Given the description of an element on the screen output the (x, y) to click on. 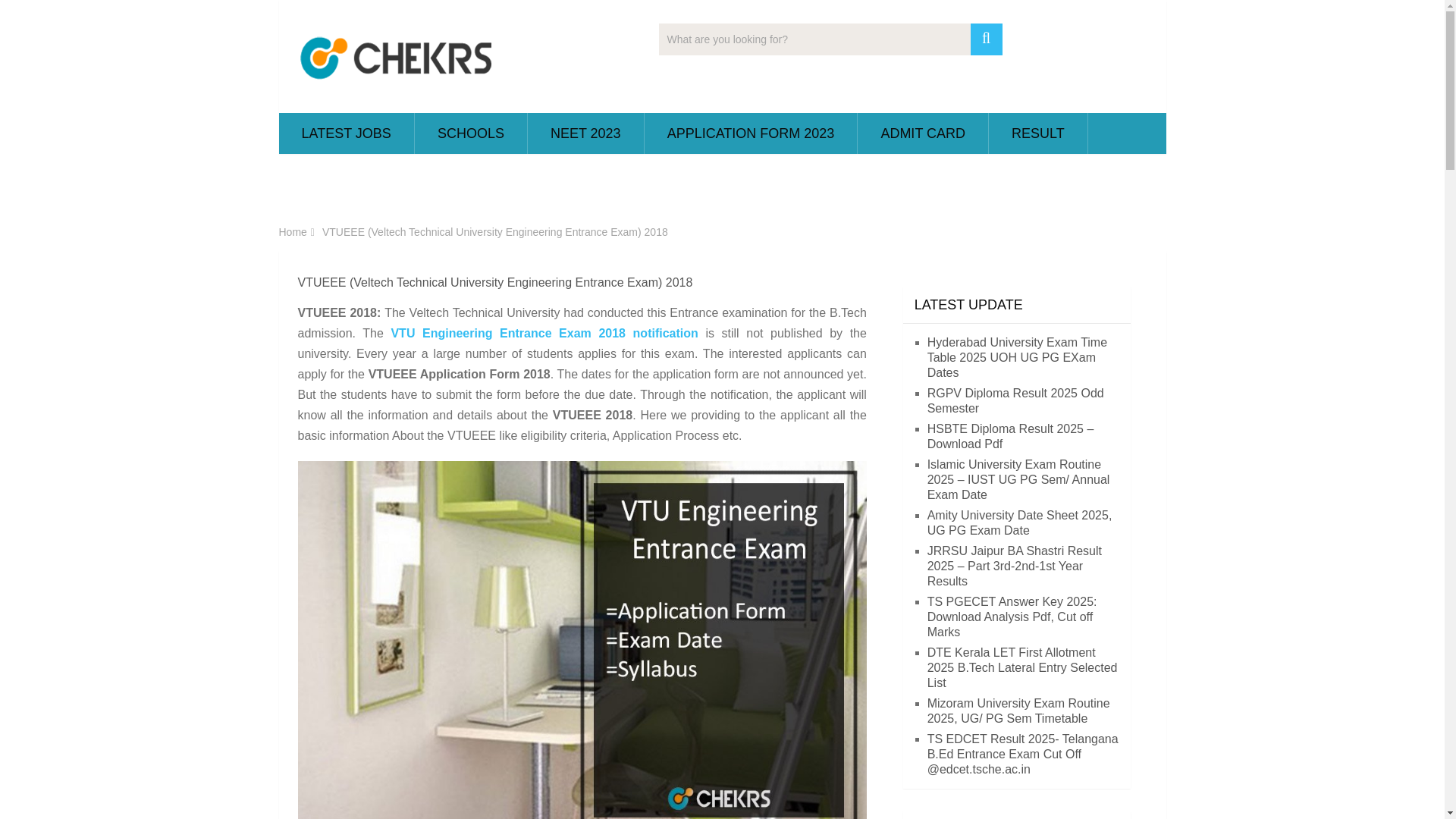
RGPV Diploma Result 2025 Odd Semester (1015, 400)
APPLICATION FORM 2023 (751, 133)
VTU Engineering Entrance Exam 2018 notification (543, 332)
RESULT (1037, 133)
NEET 2023 (585, 133)
Amity University Date Sheet 2025, UG PG Exam Date (1019, 522)
LATEST JOBS (346, 133)
ADMIT CARD (922, 133)
Home (293, 232)
SCHOOLS (470, 133)
